Given the description of an element on the screen output the (x, y) to click on. 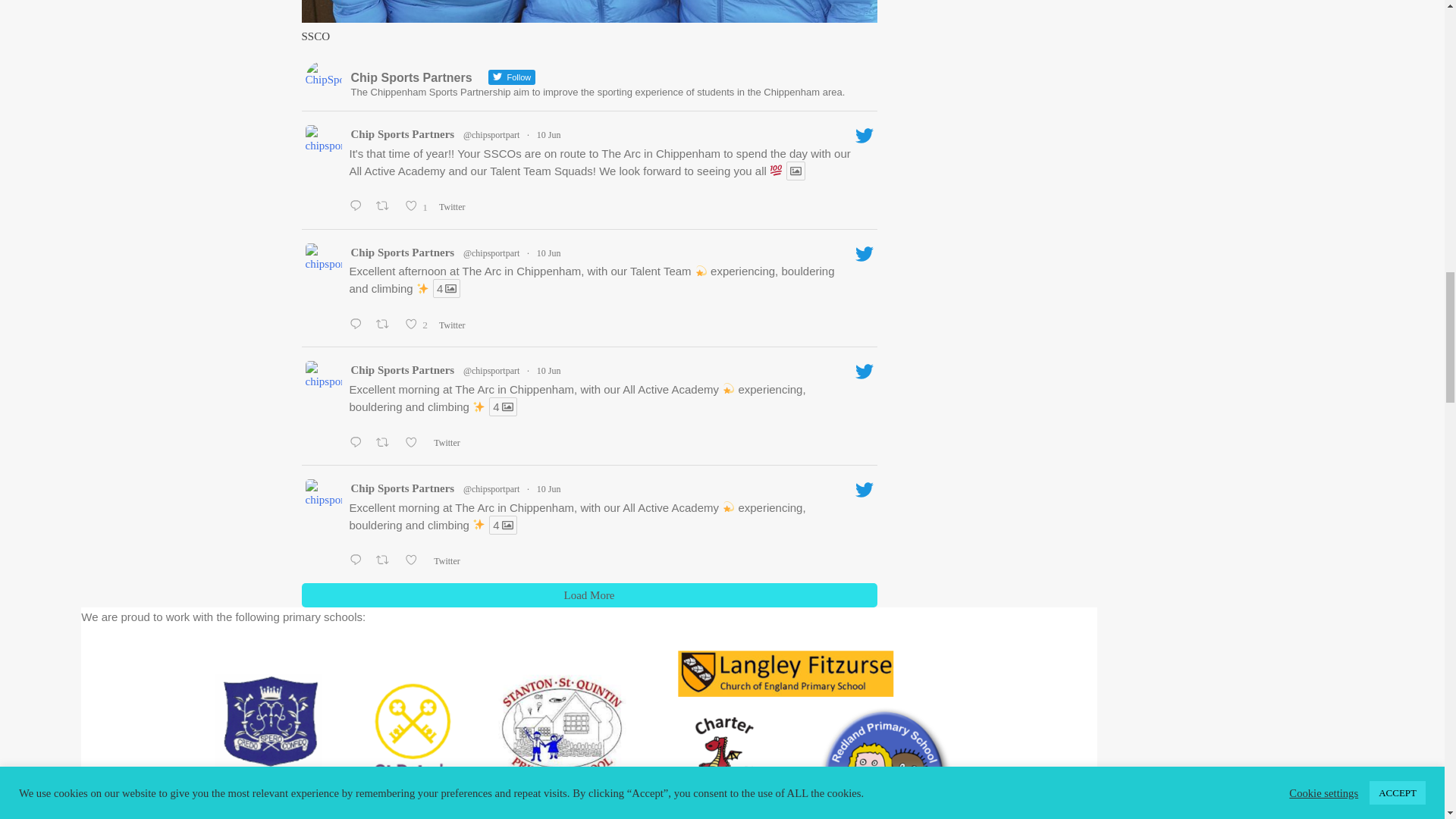
Chip Sports Partners (402, 252)
4 (446, 288)
10 Jun (548, 134)
Reply on Twitter 1800243102839439487 (359, 207)
Twitter 1800243102839439487 (454, 206)
Chip Sports Partners (402, 370)
Twitter 1800242625955701032 (418, 207)
Retweet on Twitter 1800243102839439487 (454, 325)
Chip Sports Partners (386, 207)
10 Jun (402, 134)
Retweet on Twitter 1800242625955701032 (418, 325)
Reply on Twitter 1800242625955701032 (548, 253)
